Given the description of an element on the screen output the (x, y) to click on. 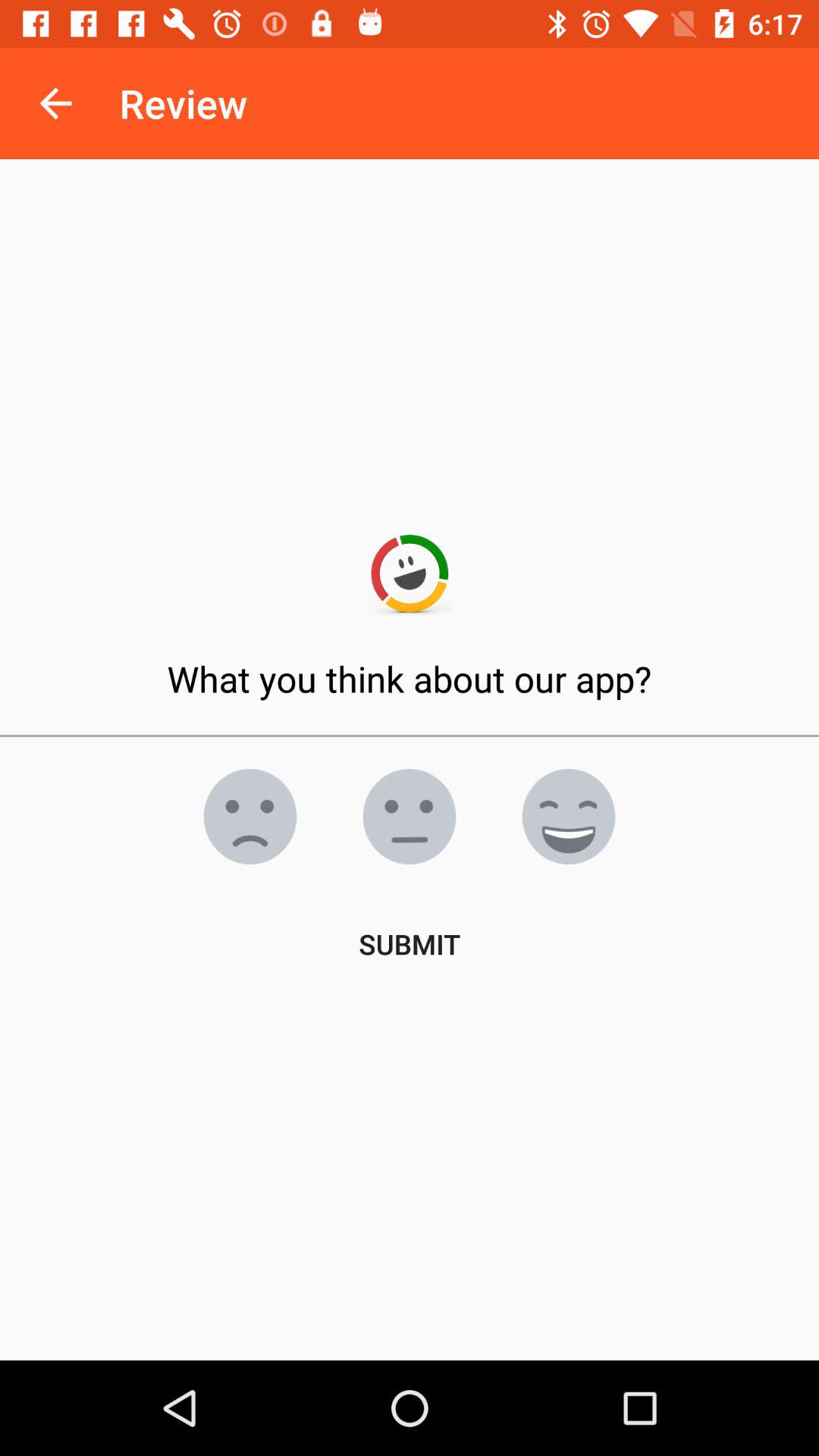
see (249, 816)
